Given the description of an element on the screen output the (x, y) to click on. 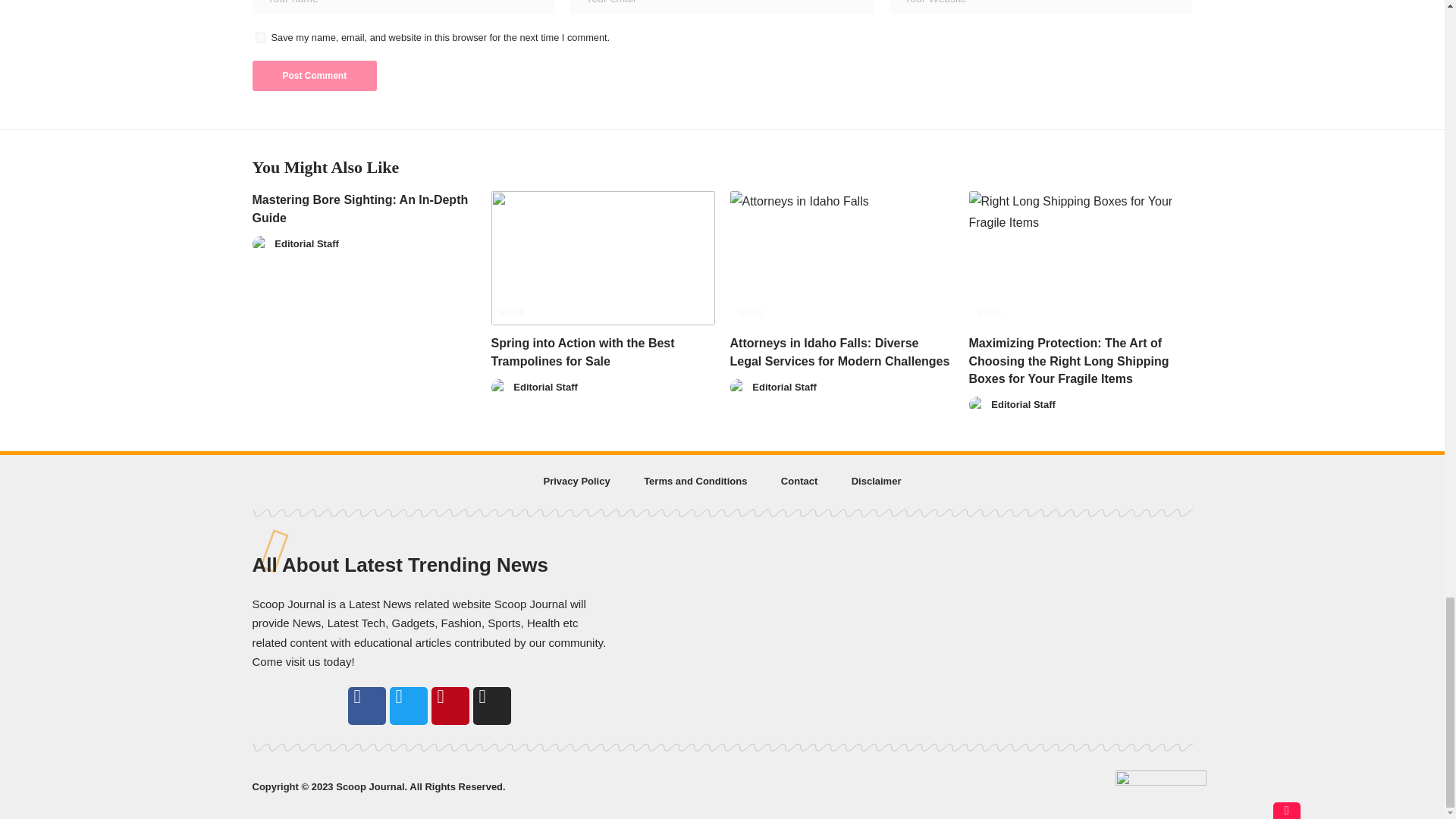
Post Comment (314, 75)
Spring into Action with the Best Trampolines for Sale (603, 257)
yes (259, 37)
